Given the description of an element on the screen output the (x, y) to click on. 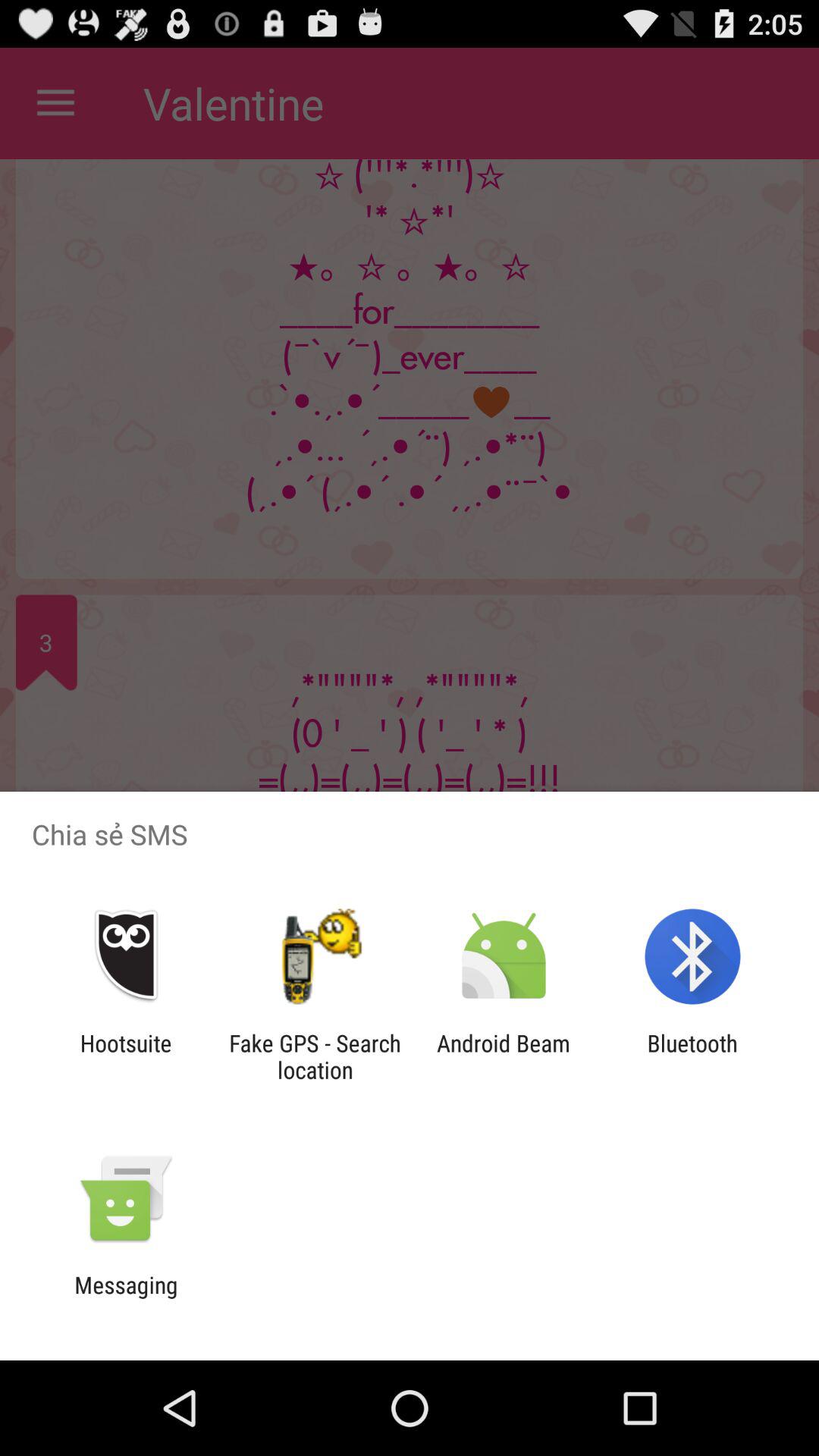
click app to the left of fake gps search app (125, 1056)
